Given the description of an element on the screen output the (x, y) to click on. 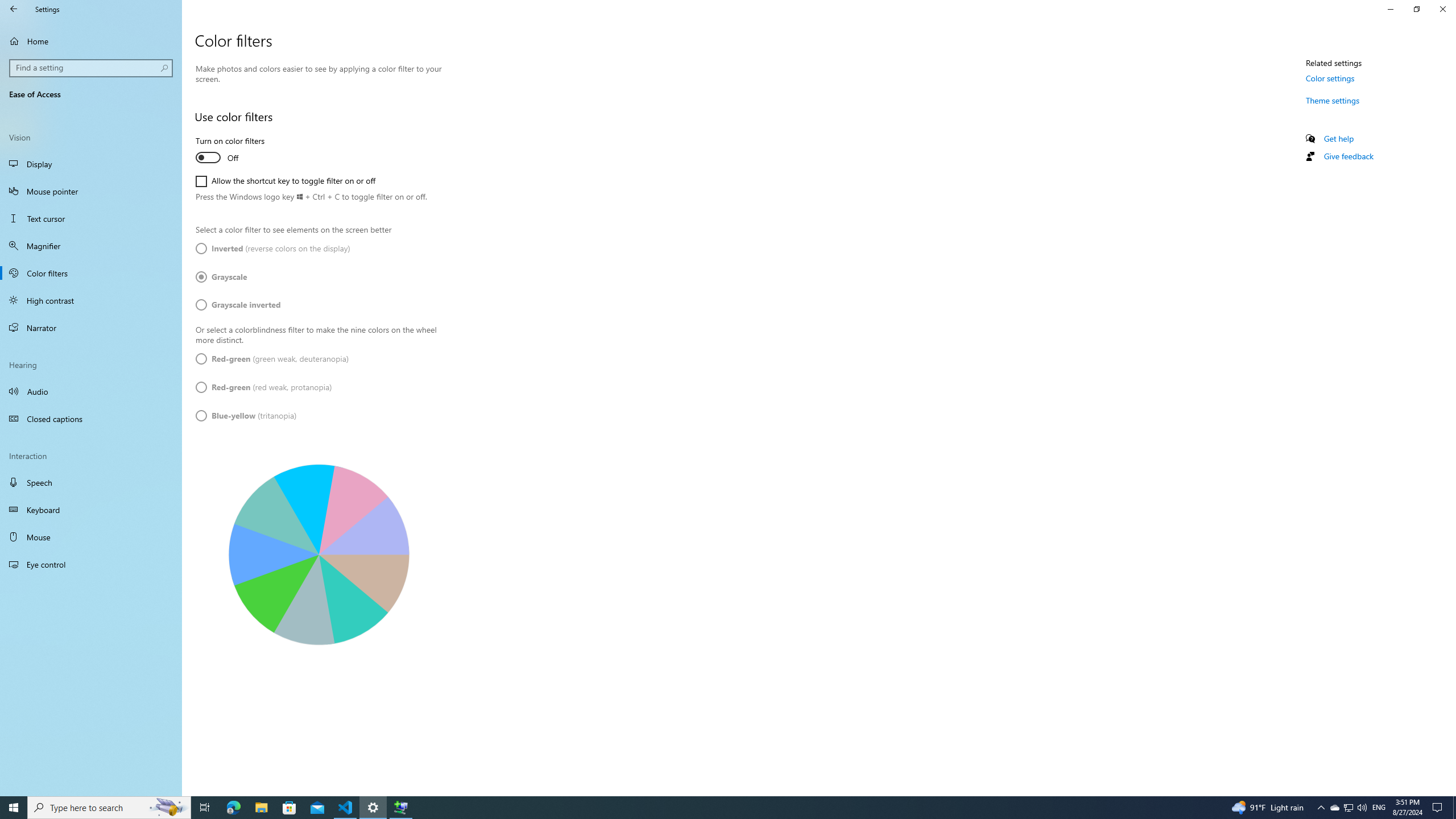
Speech (91, 482)
Grayscale (229, 276)
Narrator (91, 327)
Blue-yellow (tritanopia) (246, 416)
Mouse pointer (91, 190)
Extensible Wizards Host Process - 1 running window (400, 807)
Tray Input Indicator - English (United States) (1378, 807)
Color filters (91, 272)
Red-green (red weak, protanopia) (263, 387)
Closed captions (91, 418)
Text cursor (91, 217)
